Given the description of an element on the screen output the (x, y) to click on. 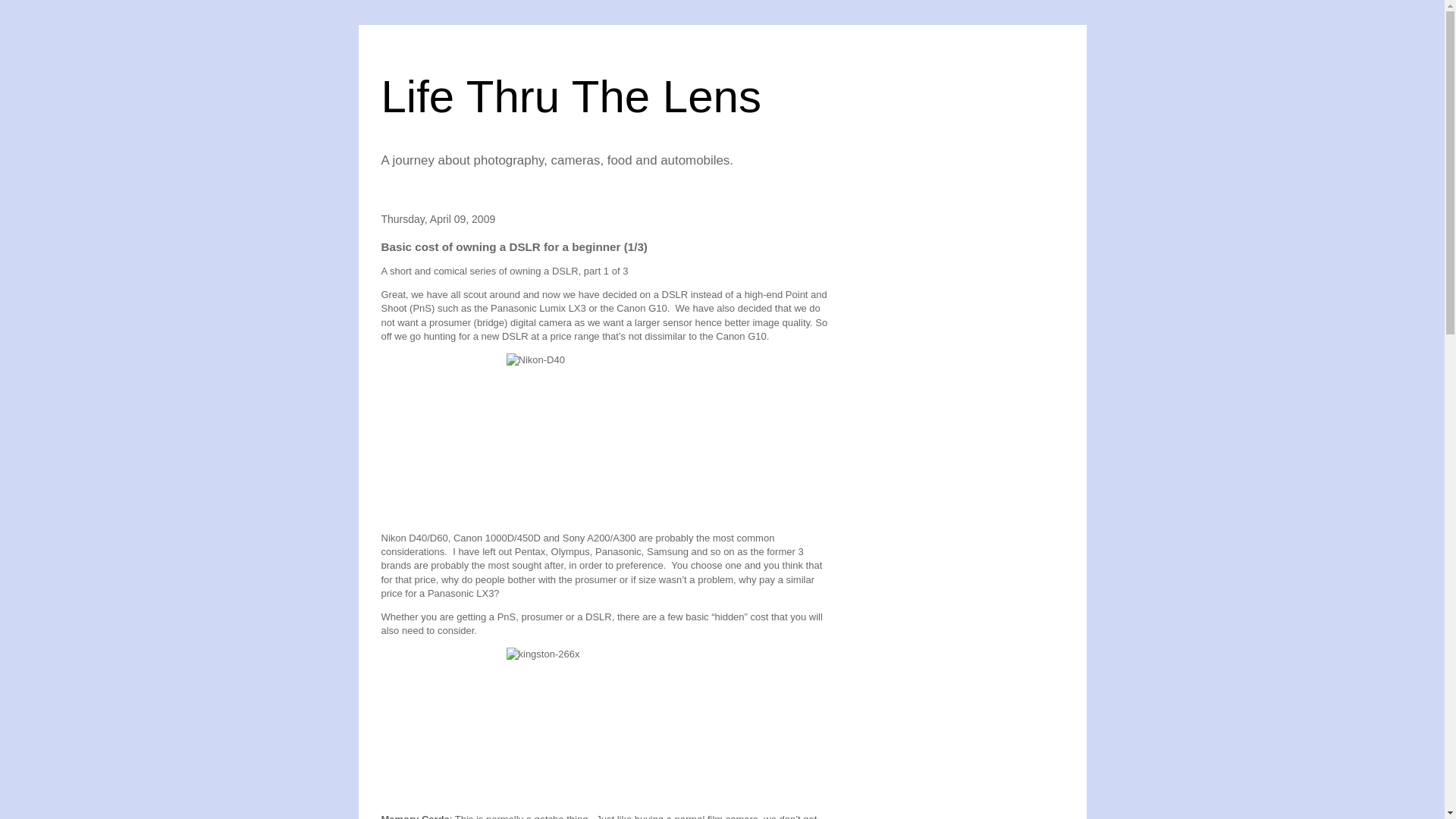
kingston-266x (604, 725)
Nikon-D40 (604, 436)
Life Thru The Lens (570, 96)
